Given the description of an element on the screen output the (x, y) to click on. 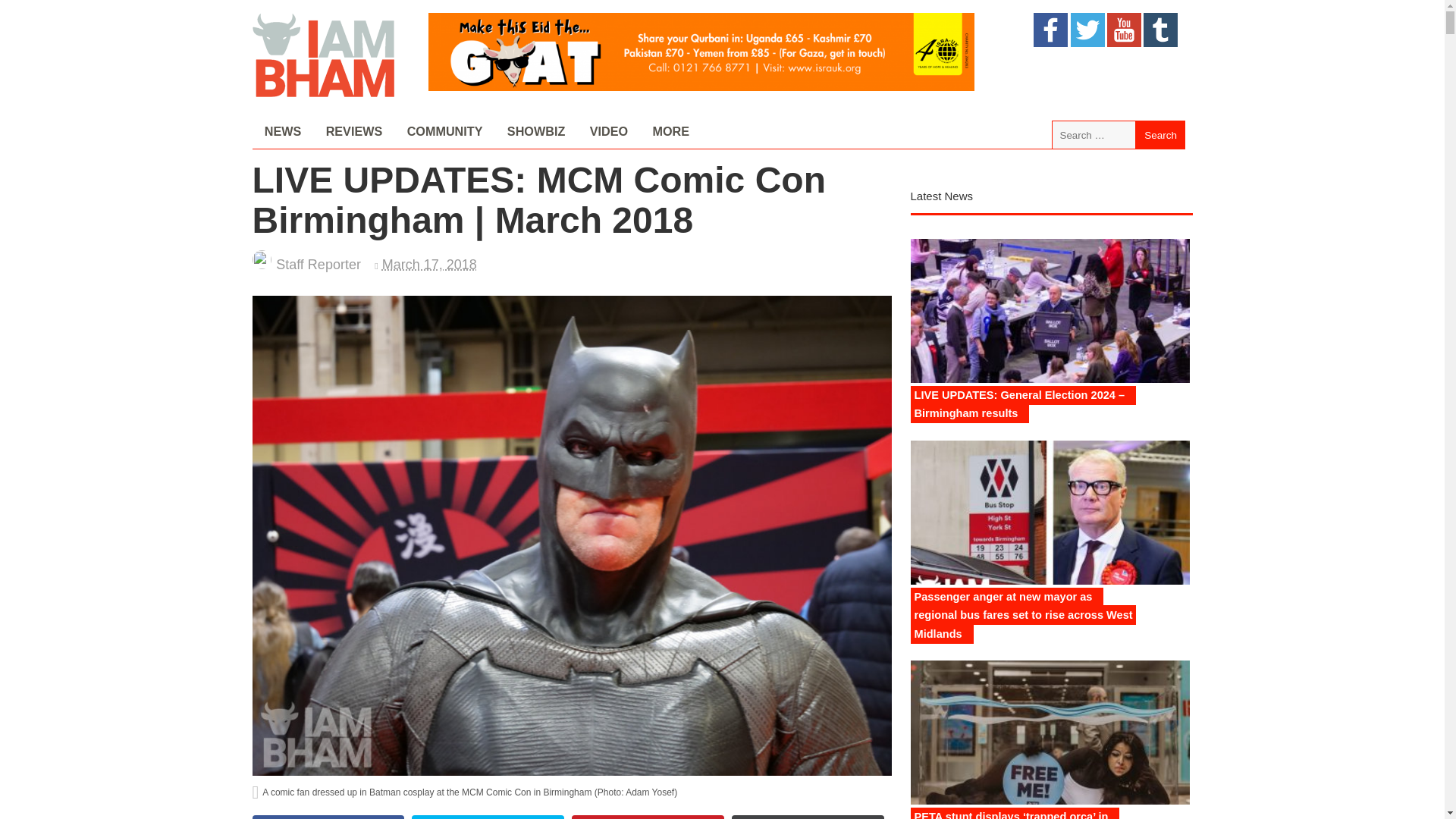
COMMUNITY (444, 132)
Share on Twitter (488, 816)
Search for: (1093, 134)
Share on Pinterest (647, 816)
Search (1160, 134)
Posts by Staff Reporter (318, 264)
VIDEO (608, 132)
MORE (670, 132)
REVIEWS (353, 132)
Share on Facebook (327, 816)
